Given the description of an element on the screen output the (x, y) to click on. 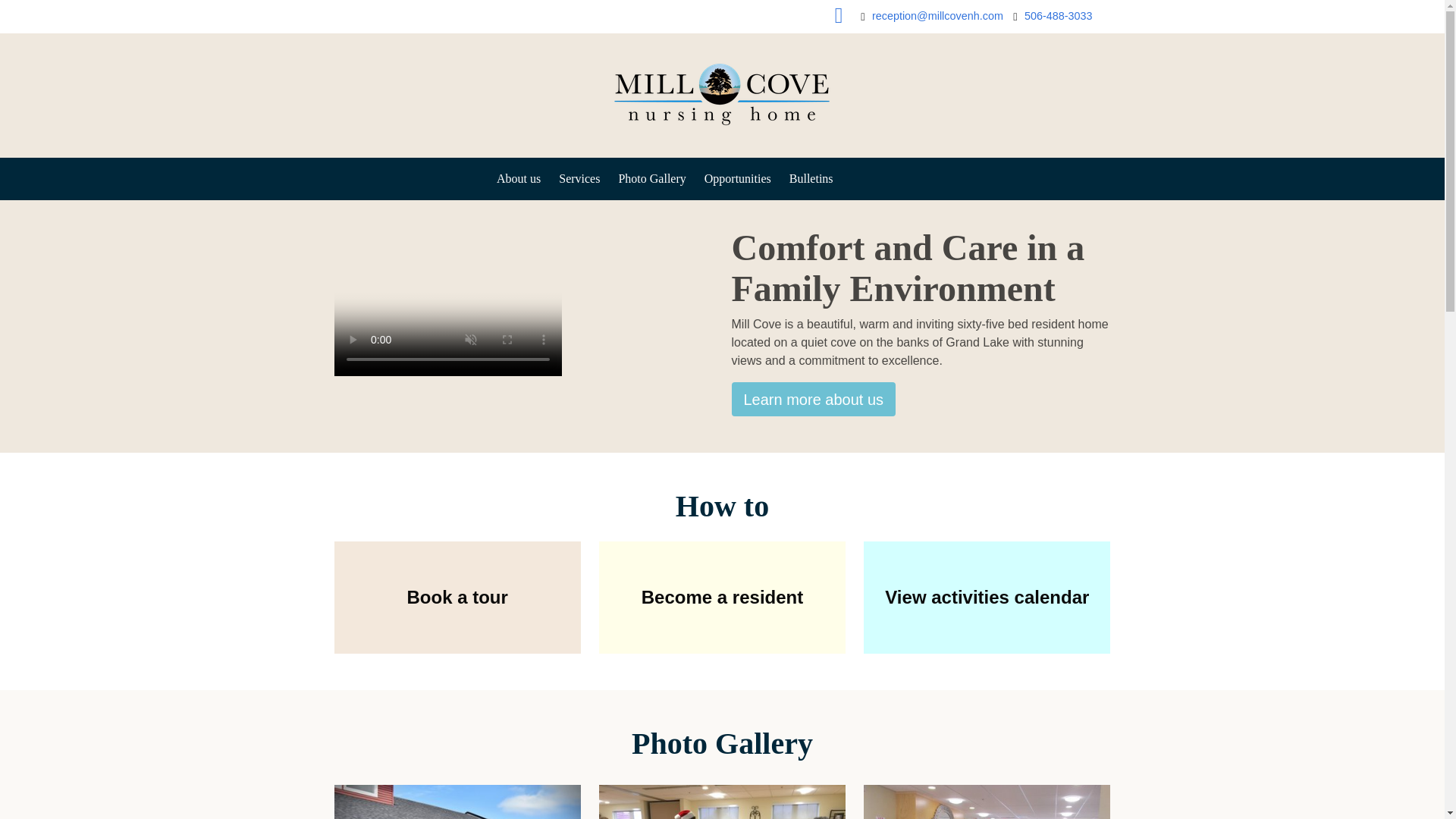
Photo Gallery (651, 178)
506-488-3033 (1059, 16)
Volunteers at Mill Cove Nursing Home.jpg (721, 801)
Book a tour (456, 597)
Opportunities (737, 178)
Mill Cove Nursing Home, Inc. (721, 135)
Services (579, 178)
Book a tour (456, 597)
About us (518, 178)
View activities calendar (986, 597)
Become a resident (721, 597)
Bulletins (811, 178)
Outdoors at Mill Cove Nursing Home.jpg (456, 801)
View activities calendar (986, 597)
About us (812, 399)
